Given the description of an element on the screen output the (x, y) to click on. 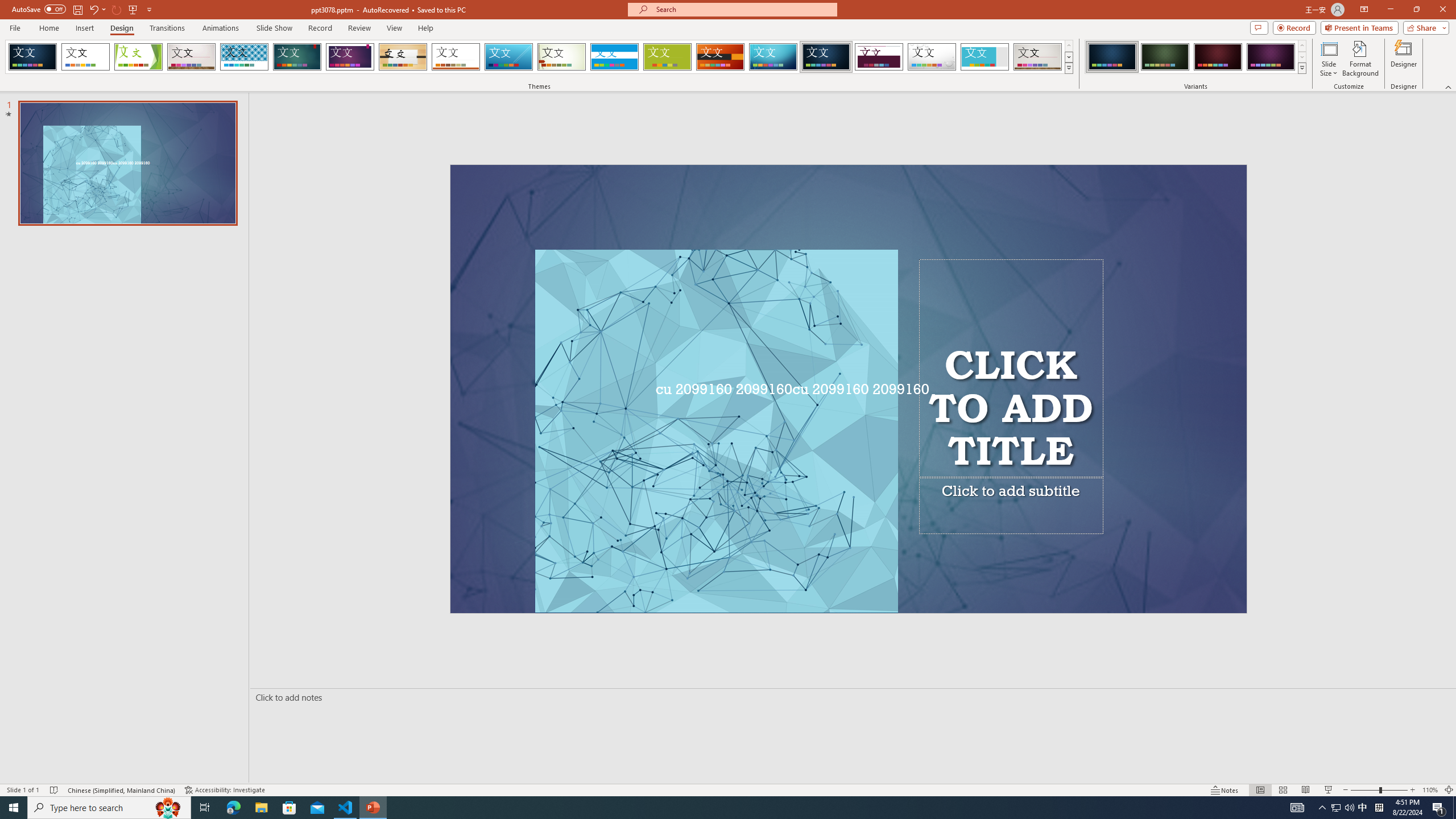
Retrospect (455, 56)
Damask Variant 2 (1164, 56)
Ion Boardroom (350, 56)
Circuit (772, 56)
AutomationID: ThemeVariantsGallery (1195, 56)
Office Theme (85, 56)
